Given the description of an element on the screen output the (x, y) to click on. 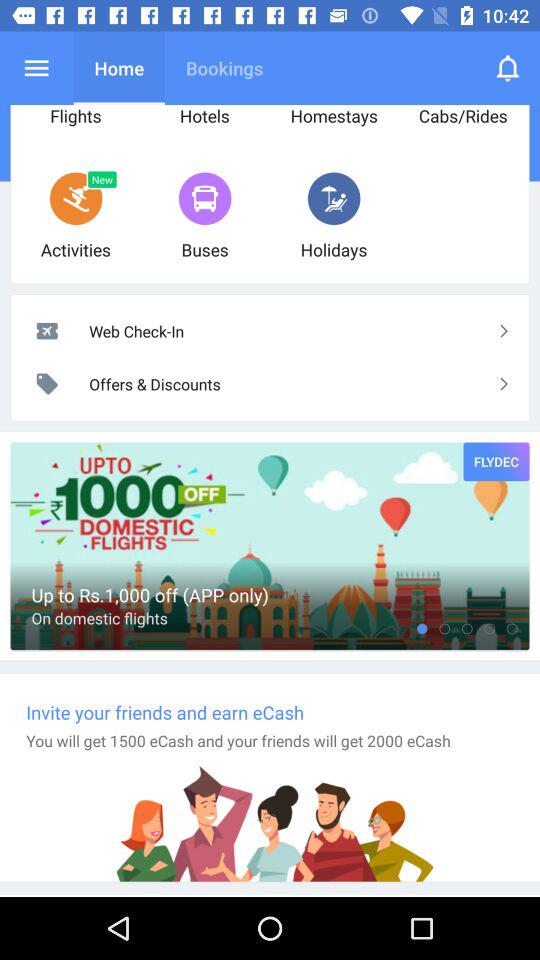
tap the icon to the right of the on domestic flights item (421, 628)
